Given the description of an element on the screen output the (x, y) to click on. 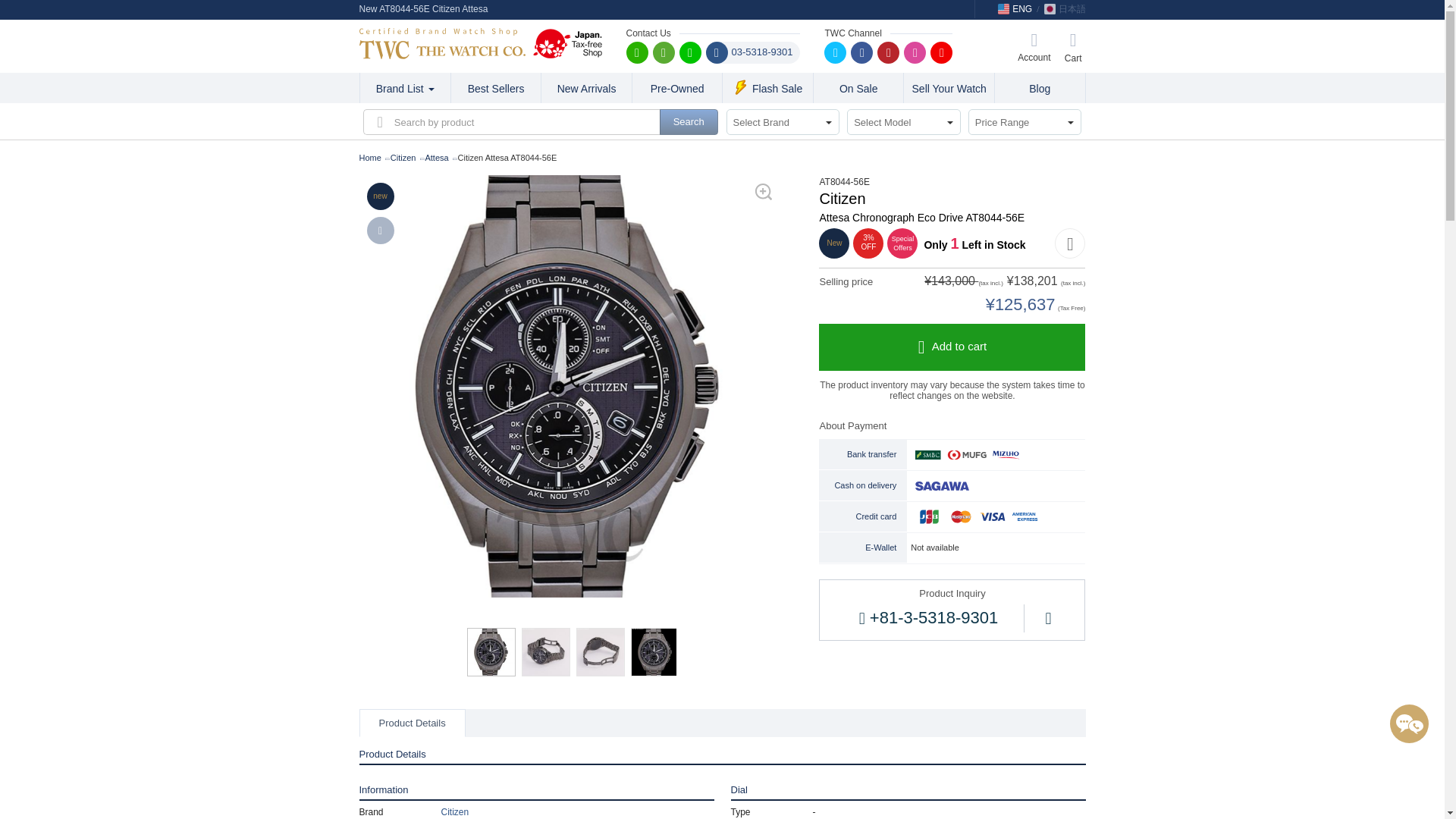
thewatchcompanyjp (663, 52)
thewatchcompany (690, 52)
Certified Brand Watch Shop (442, 42)
thewatchcompanyjp (915, 52)
03-5318-9301 (751, 52)
The Watch Company (442, 42)
thewatchcompanyjp (941, 52)
Brand List (404, 87)
thewatchcompanyjp (636, 52)
twctokyo (834, 52)
TWCtokyo (888, 52)
TWCJapan (861, 52)
